Given the description of an element on the screen output the (x, y) to click on. 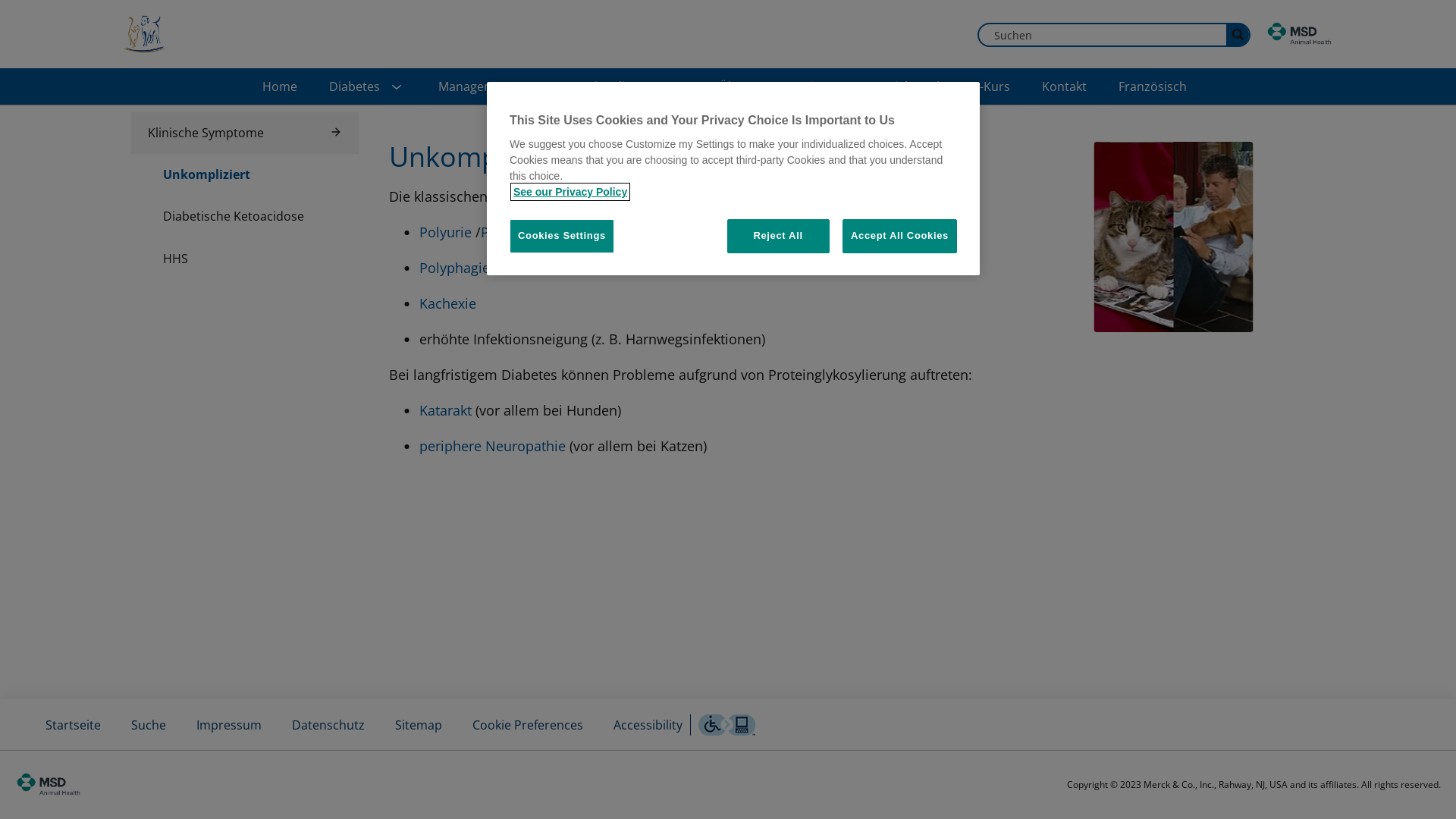
Management Element type: text (476, 86)
Impressum Element type: text (228, 724)
Cookies Settings Element type: text (561, 235)
Cookie Preferences Element type: text (527, 724)
Accept All Cookies Element type: text (899, 235)
Toggle Submenu for Management Element type: text (530, 87)
HHS Element type: text (243, 258)
Kontakt Element type: text (1063, 86)
Unkompliziert Element type: text (243, 174)
Diabetische Ketoacidose Element type: text (243, 216)
See our Privacy Policy Element type: text (570, 191)
Polyurie Element type: text (444, 231)
Klinische Symptome Element type: text (243, 132)
Sitemap Element type: text (418, 724)
Reject All Element type: text (778, 235)
Literatur Element type: text (828, 86)
Caninsulin Element type: text (601, 86)
Polydipsie Element type: text (513, 231)
Katarakt Element type: text (444, 410)
Polyphagie Element type: text (453, 267)
Accessibility Element type: text (647, 724)
FAQ Element type: text (675, 86)
Startseite Element type: text (73, 724)
periphere Neuropathie Element type: text (491, 445)
Kachexie Element type: text (446, 303)
Diabetesberater-Kurs Element type: text (947, 86)
Toggle Submenu for Diabetes Element type: text (395, 87)
Submit search Element type: text (1237, 34)
Datenschutz Element type: text (327, 724)
Home Element type: text (279, 86)
Diabetes Element type: text (354, 86)
Suche Element type: text (148, 724)
